Given the description of an element on the screen output the (x, y) to click on. 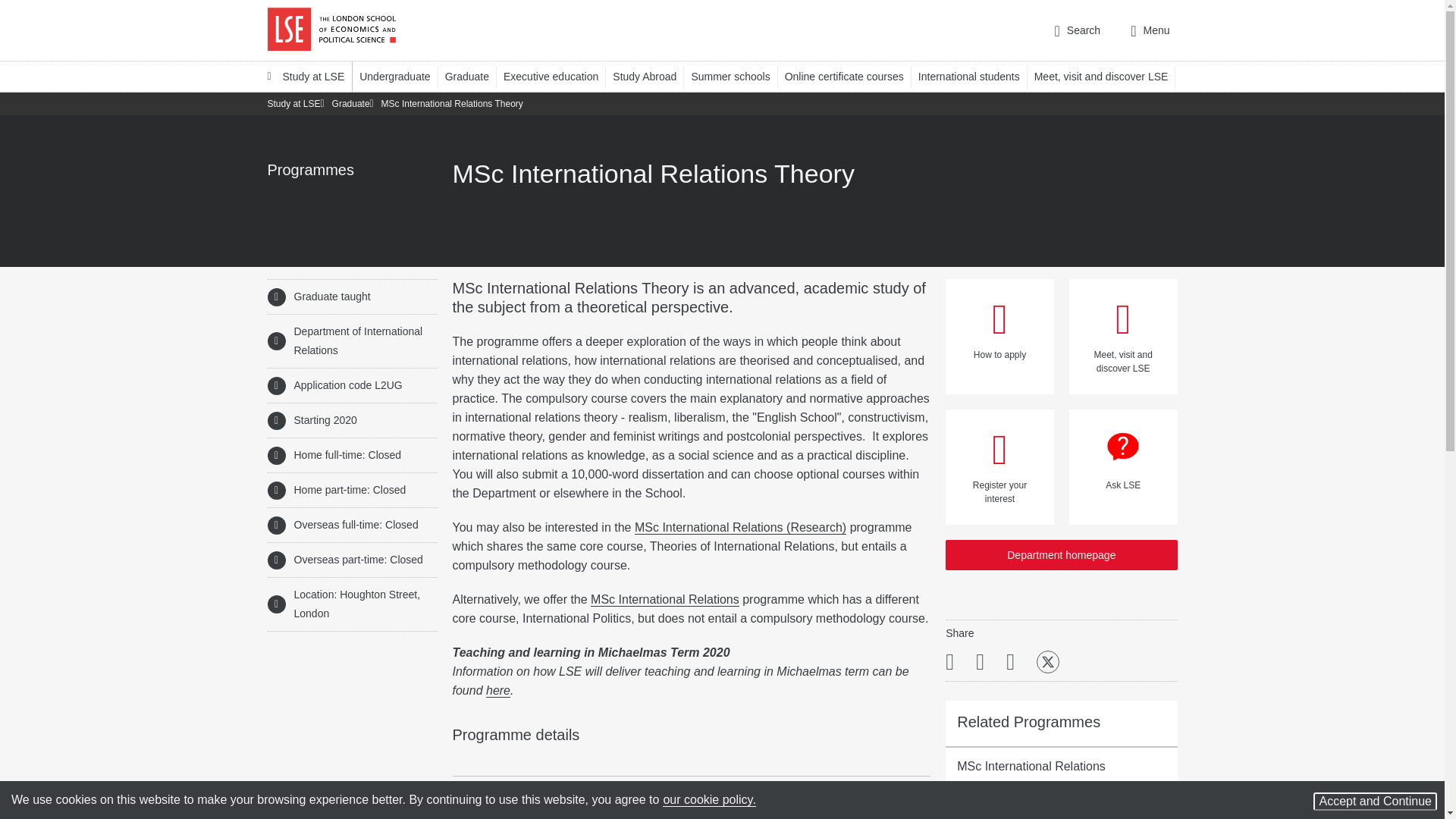
Undergraduate (401, 76)
Executive education (557, 76)
Accept and Continue (1375, 801)
Search (1077, 30)
Meet, visit and discover LSE (1107, 76)
Study Abroad (651, 76)
Graduate (474, 76)
London School of Economics and Political Science (330, 30)
Summer schools (737, 76)
our cookie policy. (708, 799)
